Given the description of an element on the screen output the (x, y) to click on. 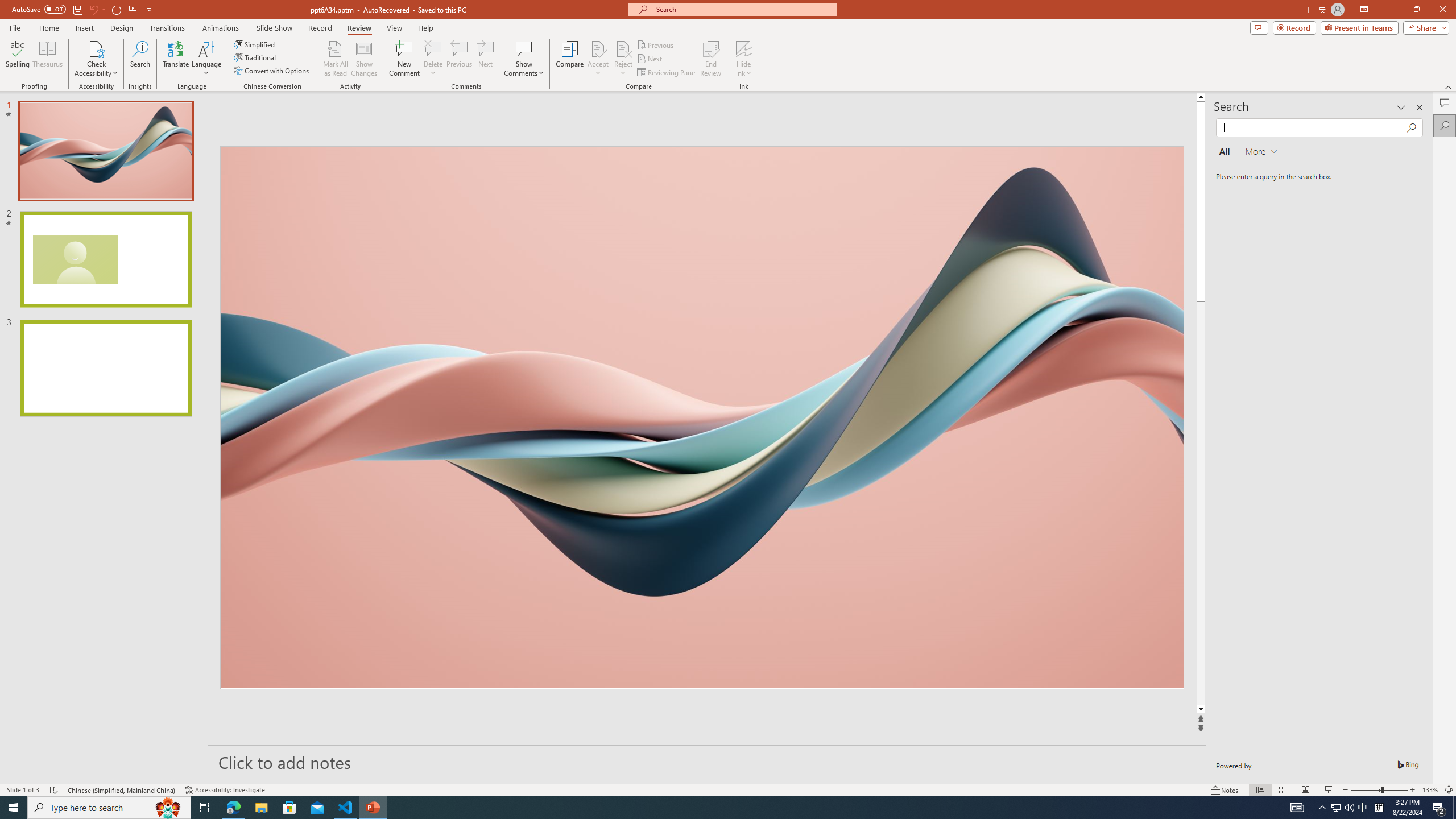
Language (206, 58)
Traditional (255, 56)
Show Changes (363, 58)
